Given the description of an element on the screen output the (x, y) to click on. 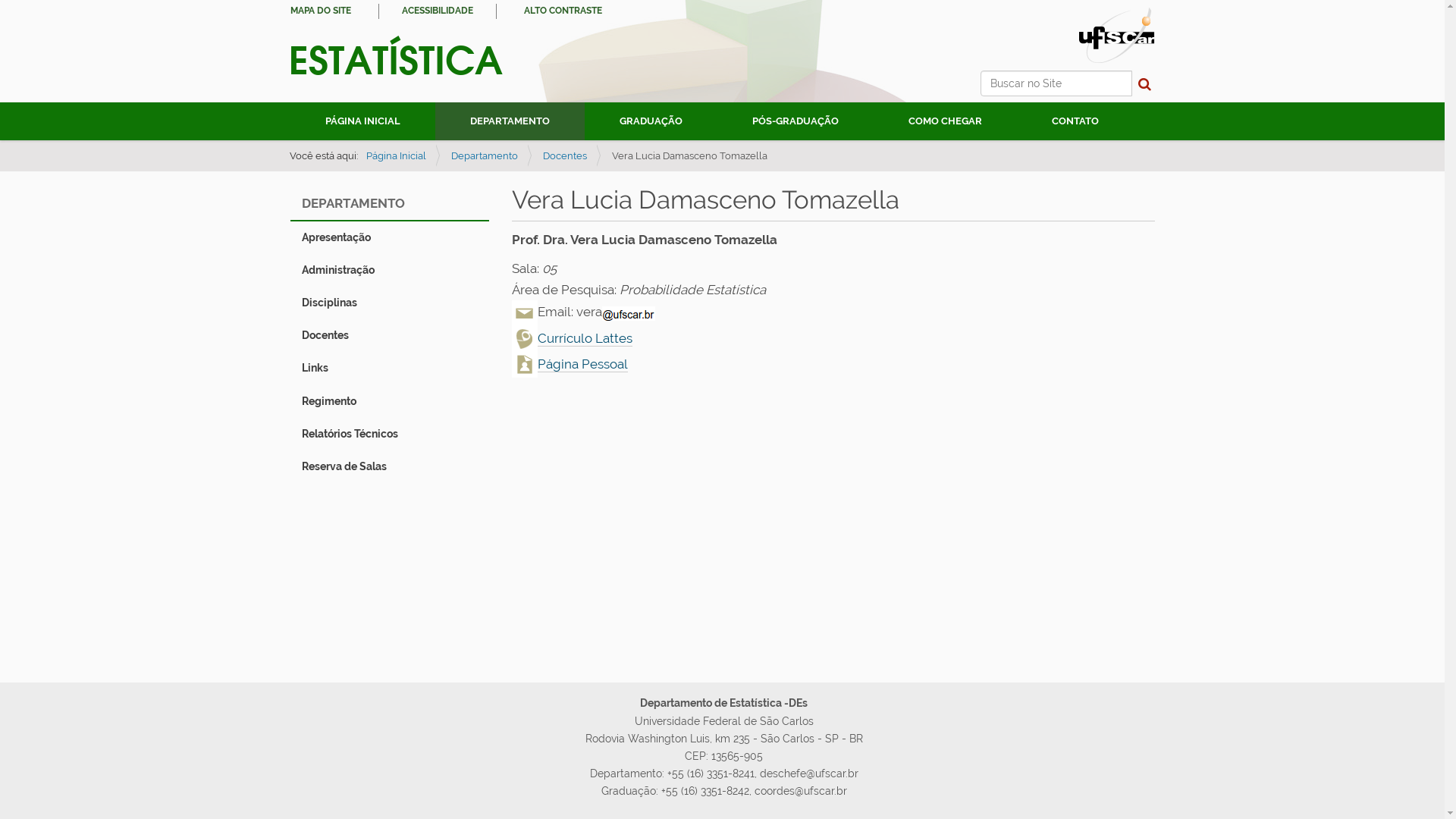
Lattes Element type: hover (524, 338)
Reserva de Salas Element type: text (343, 466)
COMO CHEGAR Element type: text (944, 121)
Email UFSCar Element type: hover (628, 313)
CONTATO Element type: text (1074, 121)
Regimento Element type: text (328, 401)
ACESSIBILIDADE Element type: text (437, 10)
Pagina Pessoal Element type: hover (524, 364)
Departamento Element type: text (483, 155)
Links Element type: text (314, 367)
Portal UFSCar Element type: hover (1116, 33)
DEPARTAMENTO Element type: text (509, 121)
MAPA DO SITE Element type: text (319, 10)
Docentes Element type: text (564, 155)
Docentes Element type: text (324, 335)
ALTO CONTRASTE Element type: text (562, 10)
Buscar no Site Element type: hover (1055, 83)
Email Element type: hover (524, 313)
Disciplinas Element type: text (329, 302)
